Given the description of an element on the screen output the (x, y) to click on. 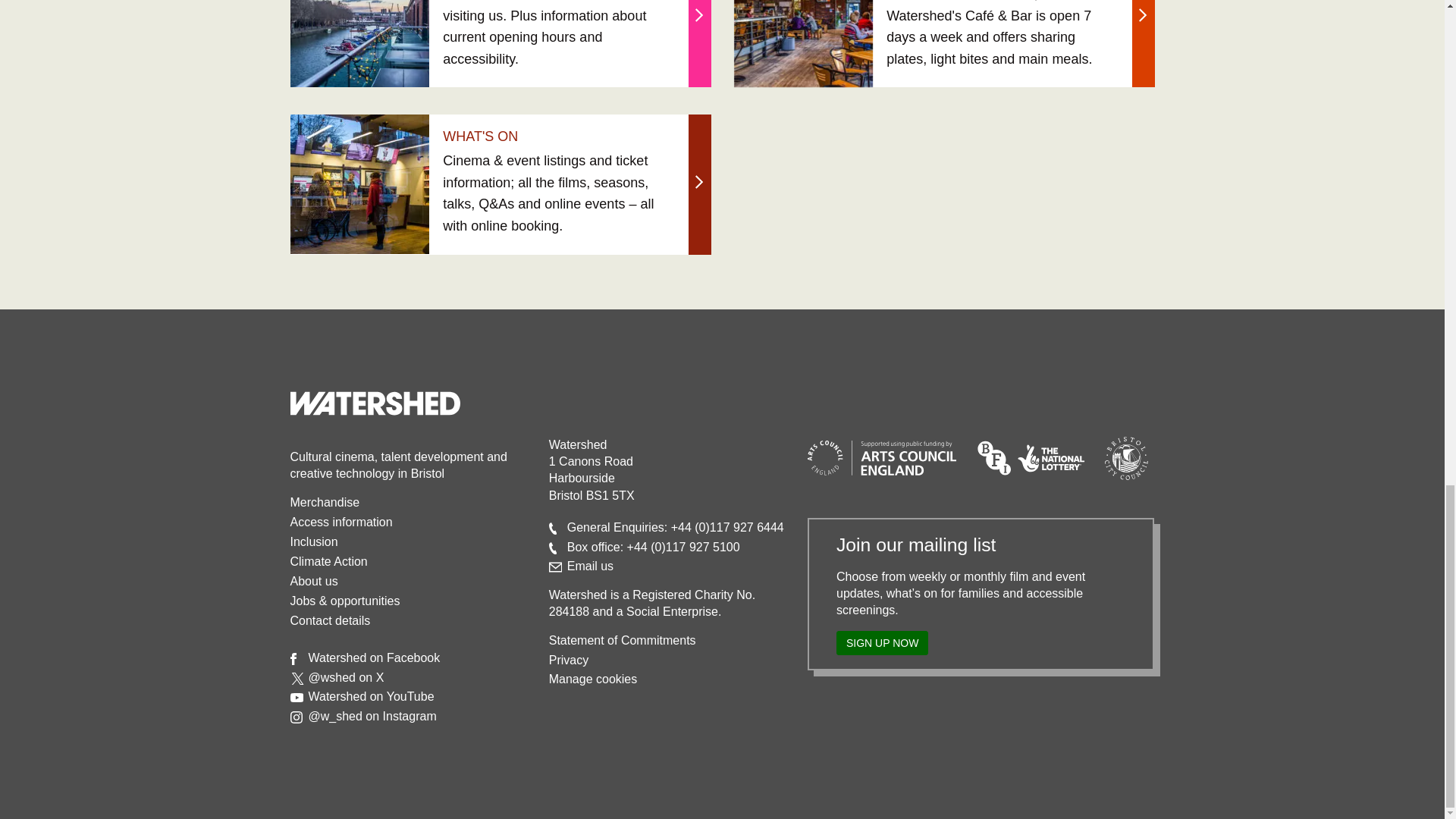
Information about Watershed's Climate Action  (327, 561)
Access information (340, 521)
Watershed access information and details (340, 521)
Merchandise (324, 502)
Watershed on Facebook (373, 657)
instagram (295, 717)
Inclusion (313, 541)
Watershed on YouTube (370, 696)
youtube (295, 697)
watershed (374, 403)
Climate Action (327, 561)
About us (313, 581)
facebook (292, 658)
twitter (296, 678)
Contact details (329, 620)
